Given the description of an element on the screen output the (x, y) to click on. 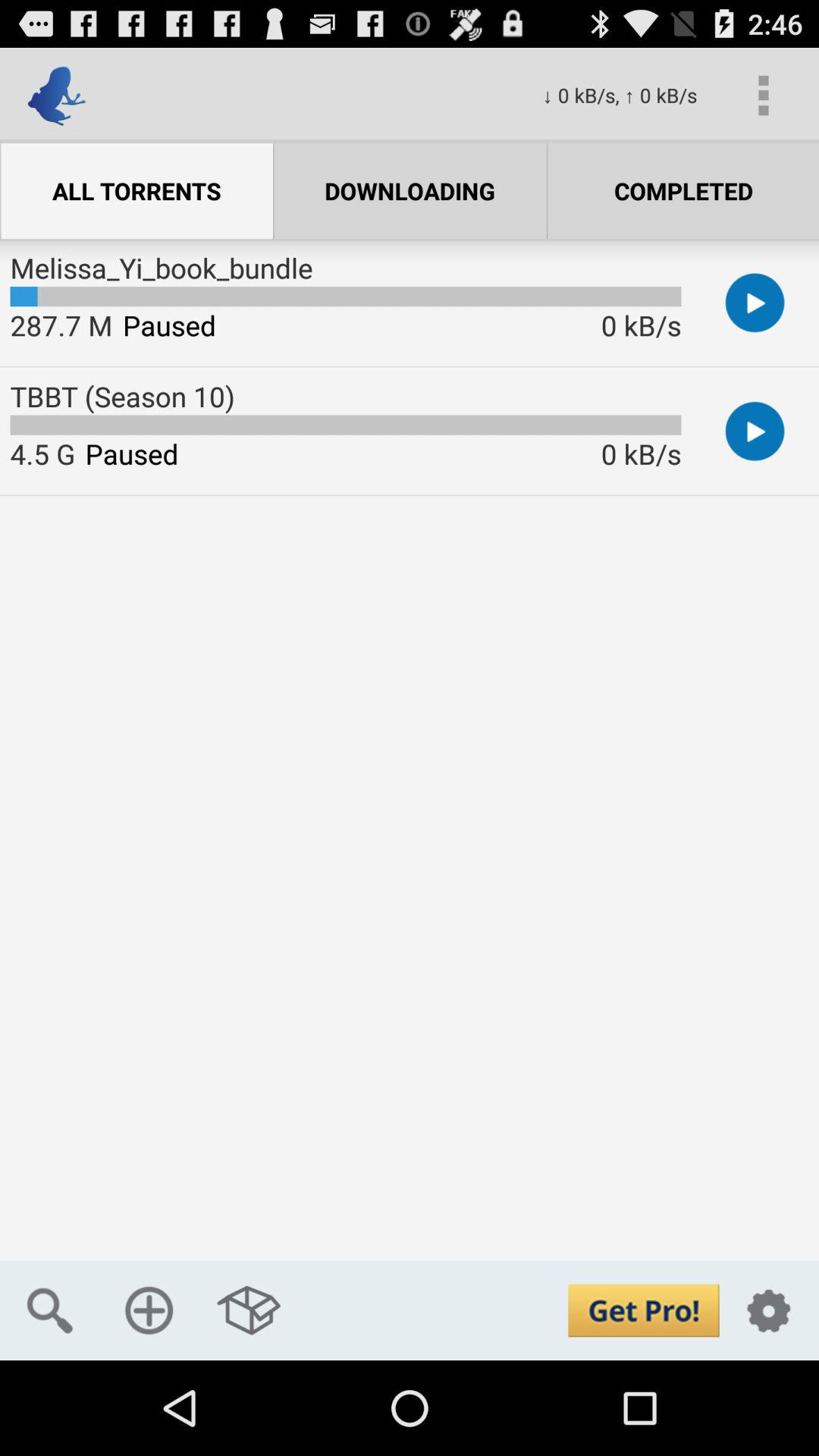
select melissa_yi_book_bundle icon (161, 267)
